Given the description of an element on the screen output the (x, y) to click on. 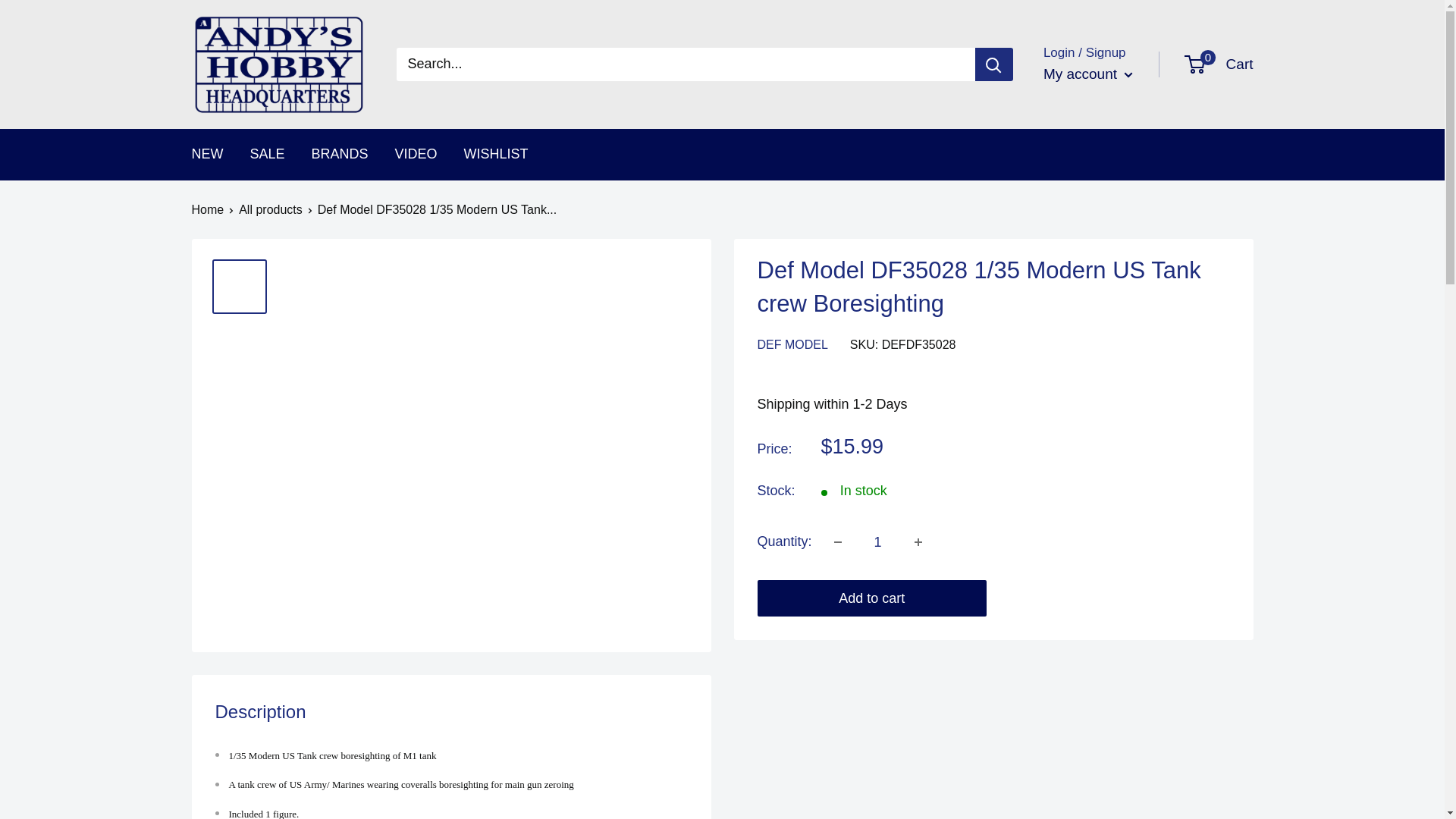
All products (270, 209)
VIDEO (1219, 63)
Home (416, 154)
DEF MODEL (207, 209)
SALE (792, 344)
Decrease quantity by 1 (267, 154)
Increase quantity by 1 (837, 541)
BRANDS (918, 541)
WISHLIST (339, 154)
NEW (496, 154)
AndysHHQ (206, 154)
1 (277, 64)
My account (877, 541)
Add to cart (1087, 73)
